Given the description of an element on the screen output the (x, y) to click on. 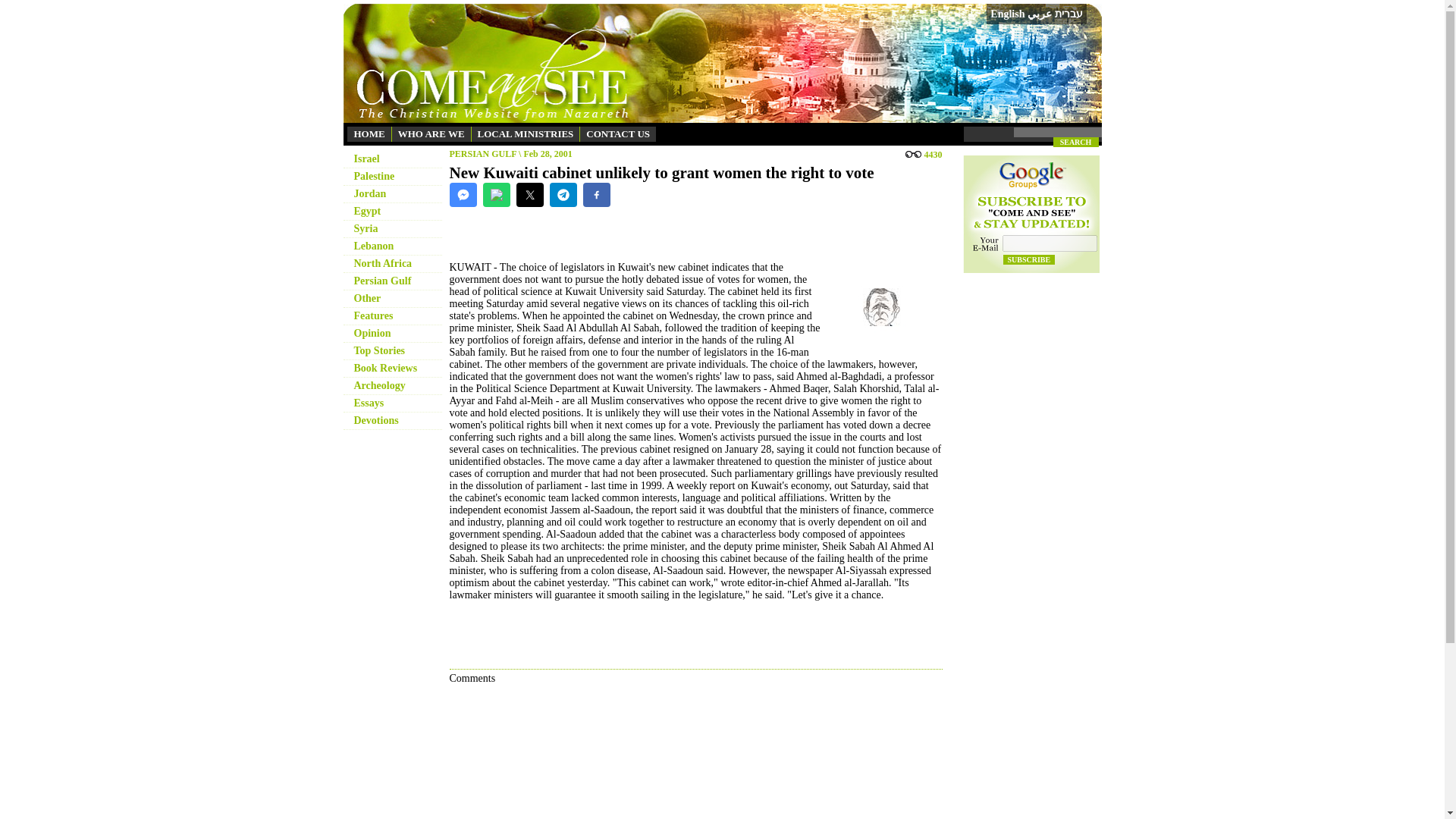
Jordan (369, 193)
Essays (368, 402)
SUBSCRIBE (1028, 259)
Persian Gulf (381, 280)
LOCAL MINISTRIES (525, 133)
Jordan (369, 193)
Syria (365, 228)
Devotions (375, 419)
Israel (365, 158)
SUBSCRIBE (1028, 259)
Archeology (378, 385)
Israel (365, 158)
North Africa (382, 263)
Features (373, 315)
Other (366, 297)
